Given the description of an element on the screen output the (x, y) to click on. 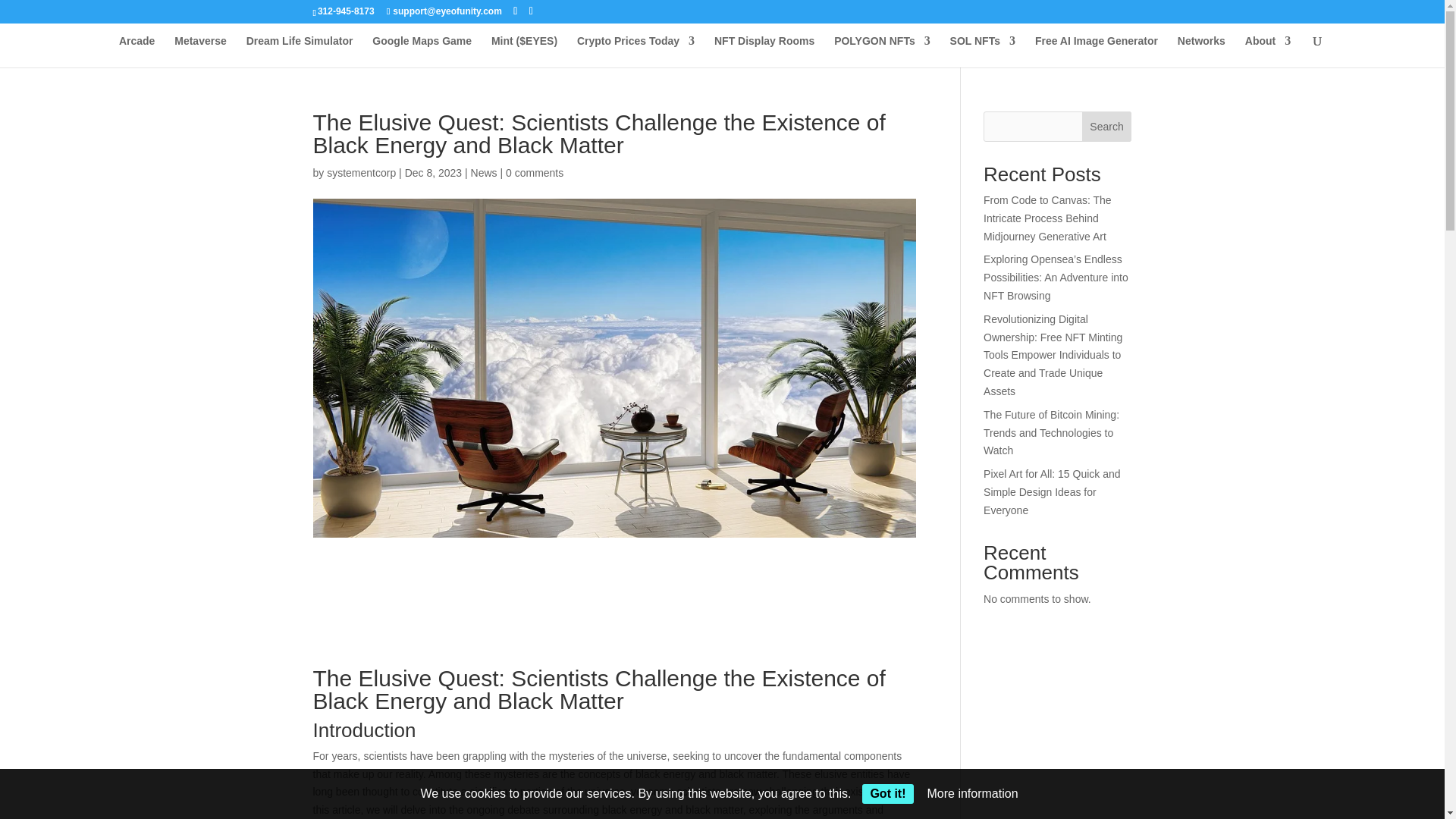
SOL NFTs (982, 51)
About (1267, 51)
Free AI Image Generator (1096, 51)
Crypto Prices Today (635, 51)
More information (972, 793)
Metaverse (200, 51)
Arcade (136, 51)
Got it! (886, 793)
Dream Life Simulator (299, 51)
Posts by systementcorp (361, 173)
Networks (1201, 51)
NFT Display Rooms (763, 51)
POLYGON NFTs (882, 51)
Google Maps Game (421, 51)
